Given the description of an element on the screen output the (x, y) to click on. 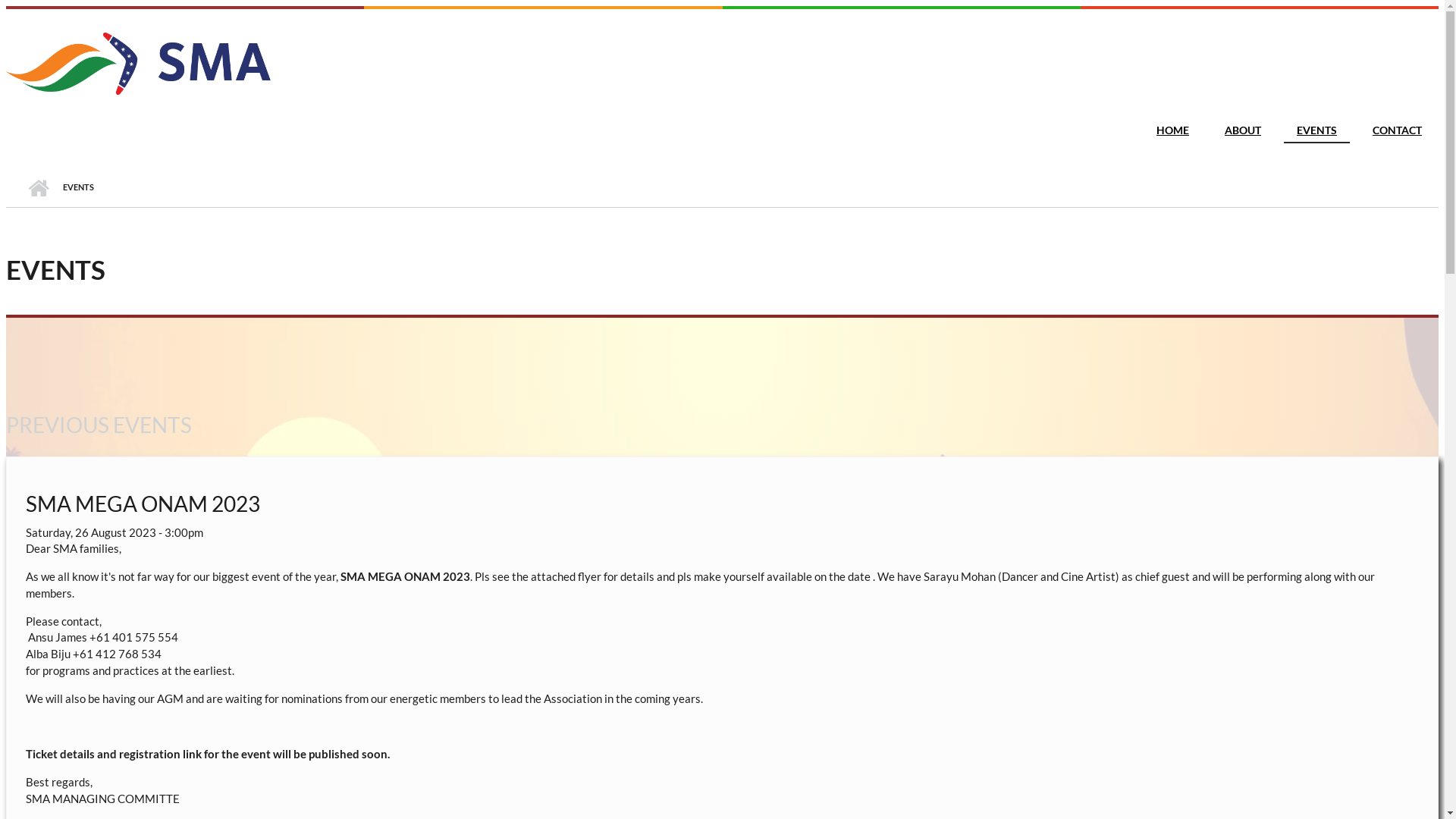
Home Element type: hover (138, 90)
HOME Element type: text (1172, 130)
ABOUT Element type: text (1242, 130)
Skip to main content Element type: text (56, 6)
CONTACT Element type: text (1396, 130)
EVENTS Element type: text (1316, 130)
HOME Element type: text (38, 187)
